Given the description of an element on the screen output the (x, y) to click on. 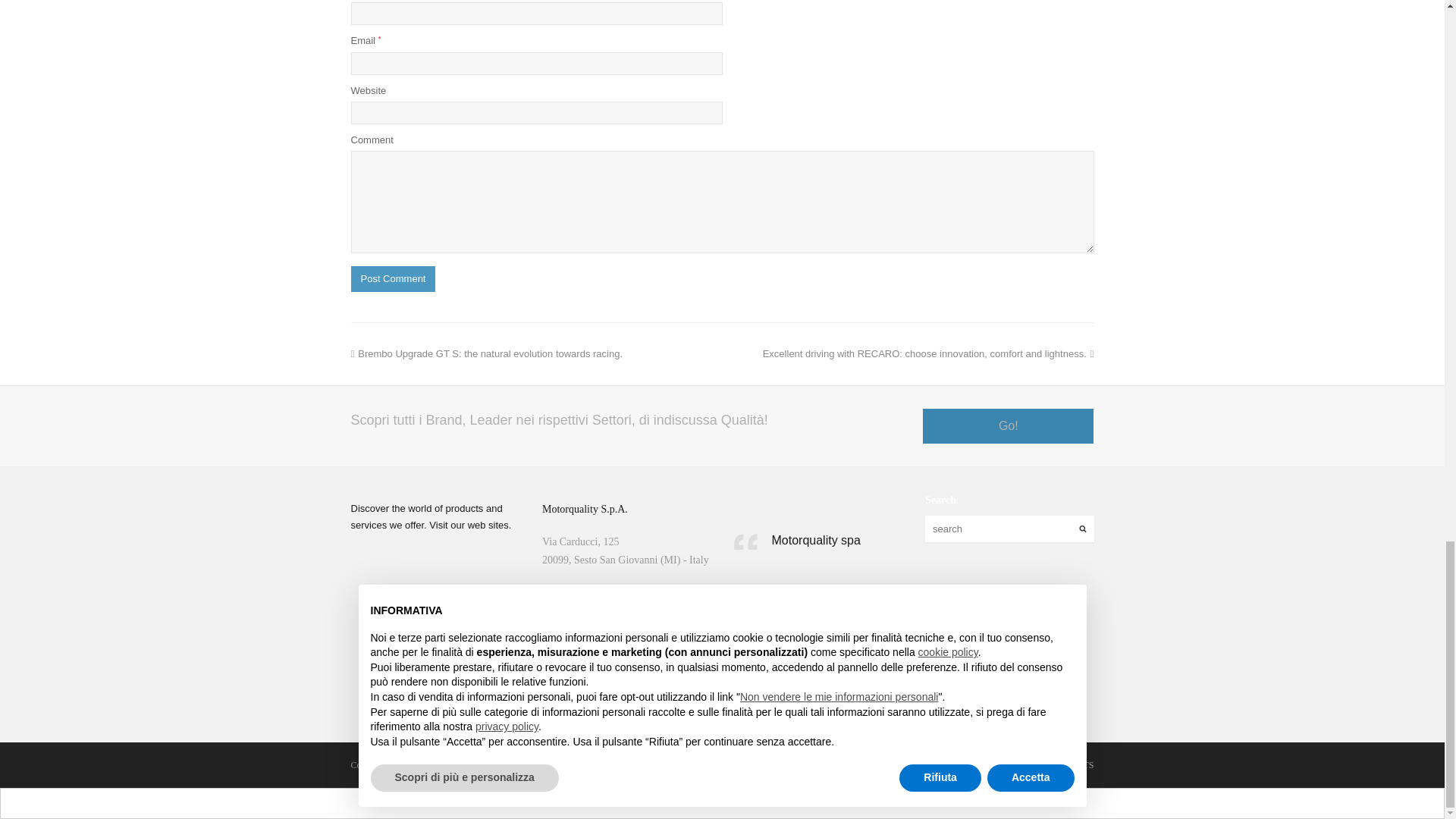
search (1009, 528)
search (1009, 528)
Italiano (737, 801)
English (703, 801)
Go! (1008, 425)
Post Comment (392, 278)
